Given the description of an element on the screen output the (x, y) to click on. 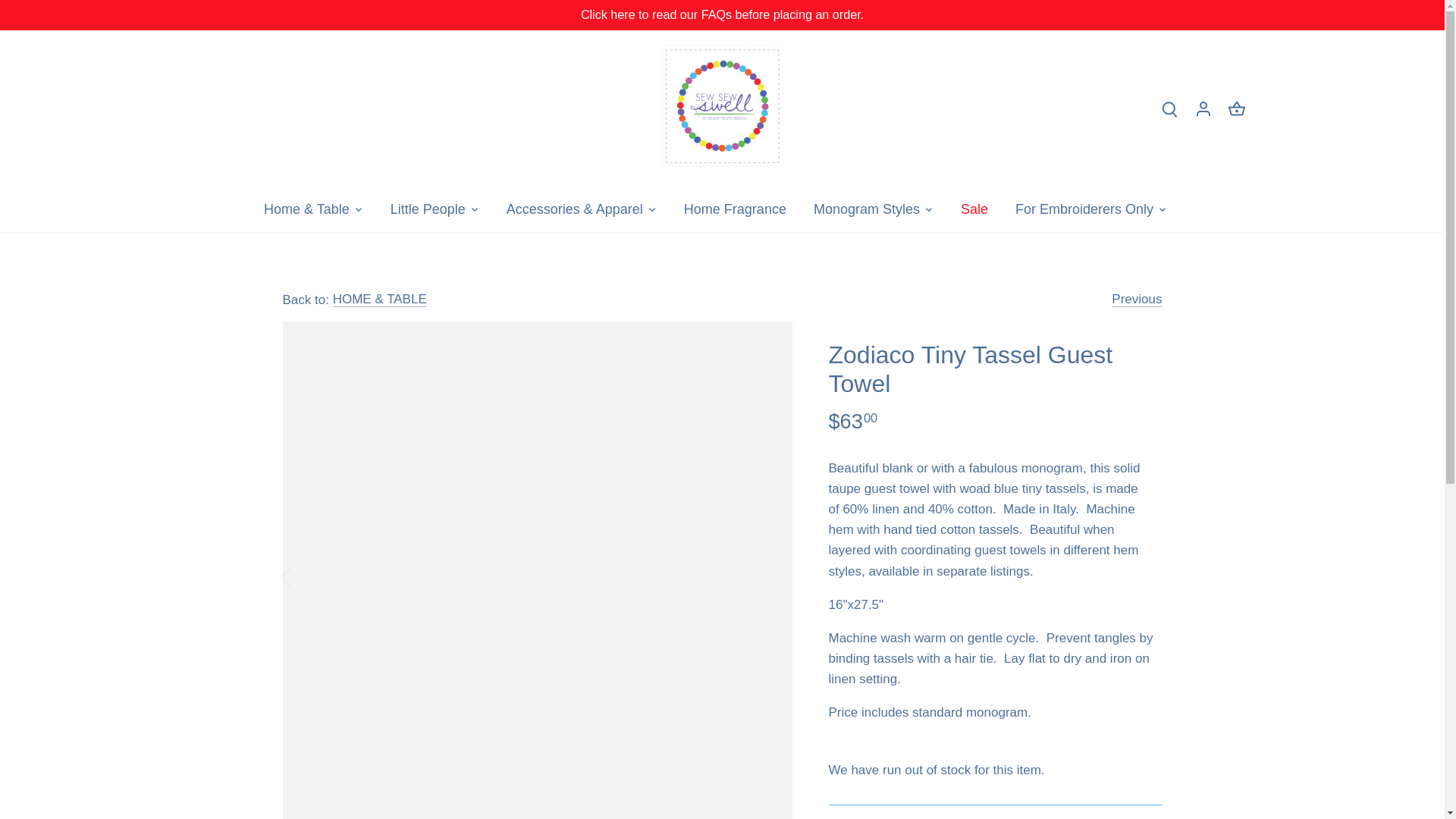
Little People (428, 209)
Home Fragrance (734, 209)
Sale (974, 209)
Click here to read our FAQs before placing an order. (721, 14)
Monogram Styles (866, 209)
For Embroiderers Only (1084, 209)
